Given the description of an element on the screen output the (x, y) to click on. 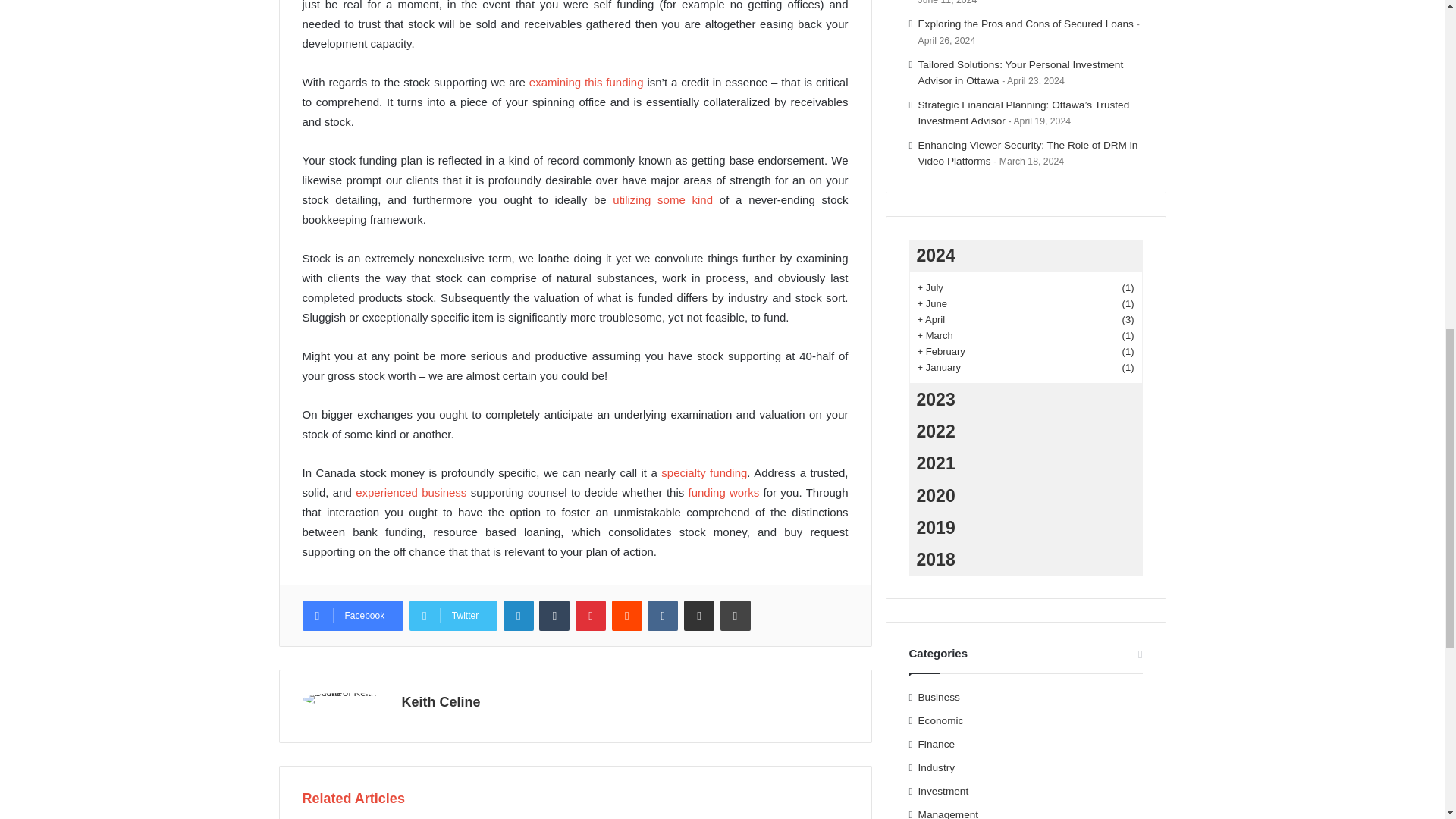
examining this funding (586, 82)
Tumblr (553, 615)
Twitter (453, 615)
VKontakte (662, 615)
LinkedIn (518, 615)
funding works (724, 492)
Share via Email (699, 615)
Facebook (352, 615)
experienced business (410, 492)
Pinterest (590, 615)
